Given the description of an element on the screen output the (x, y) to click on. 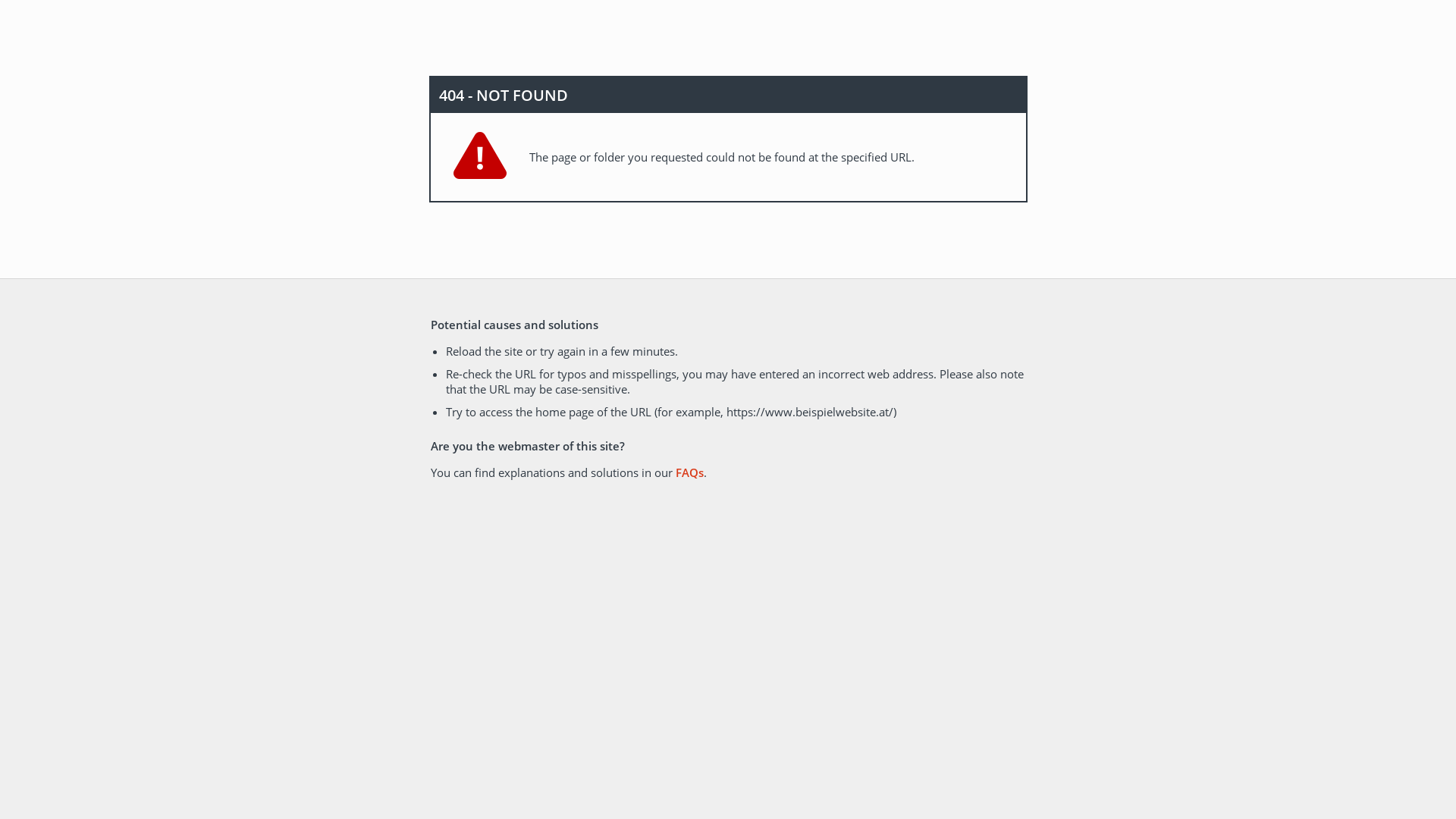
FAQs Element type: text (688, 472)
